Given the description of an element on the screen output the (x, y) to click on. 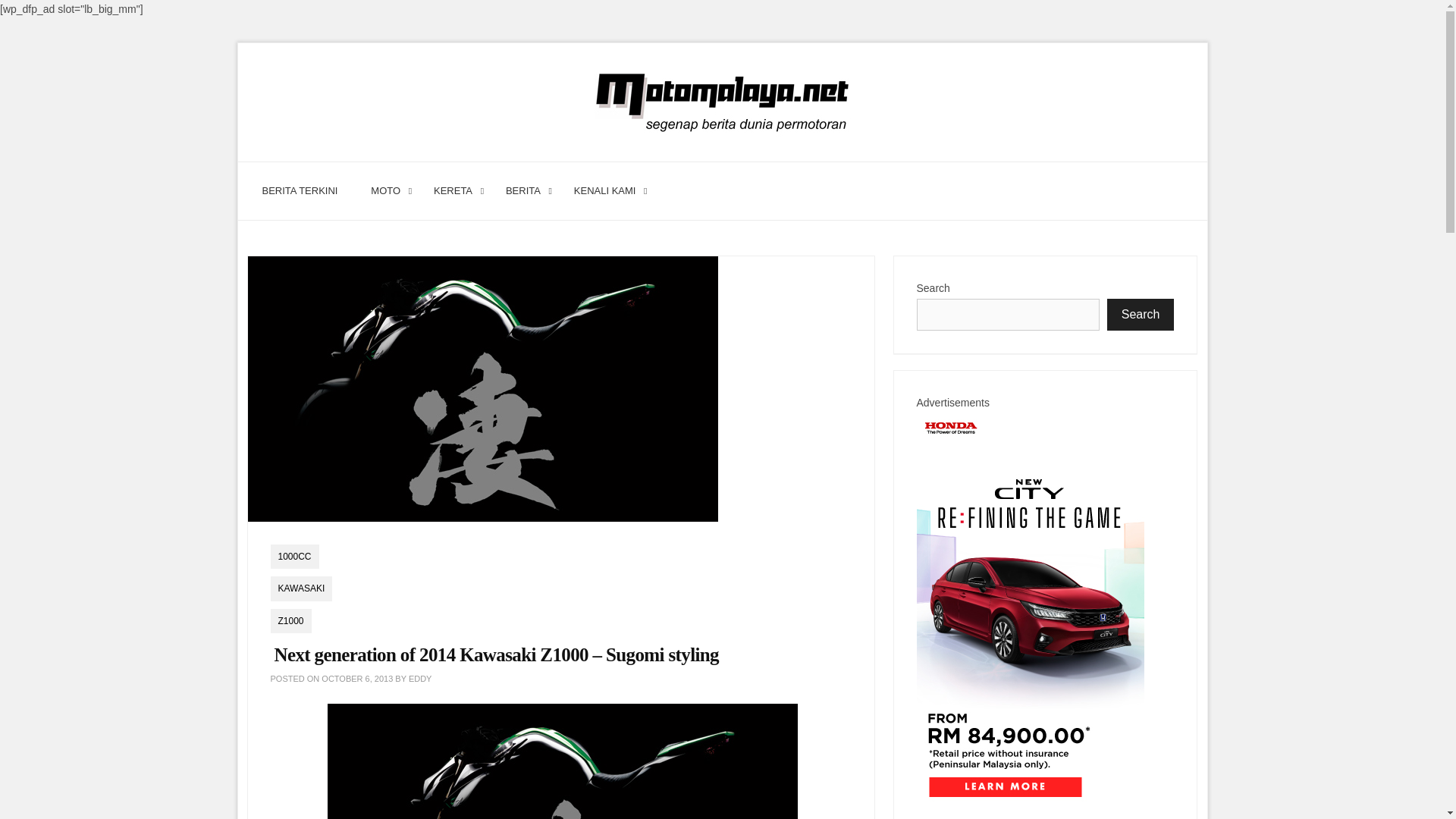
KENALI KAMI (604, 190)
KAWASAKI (300, 588)
BERITA TERKINI (300, 190)
KERETA (453, 190)
EDDY (420, 678)
Search (1140, 314)
BERITA (523, 190)
MOTO (384, 190)
1000CC (293, 556)
Z1000 (290, 621)
OCTOBER 6, 2013 (357, 678)
